Given the description of an element on the screen output the (x, y) to click on. 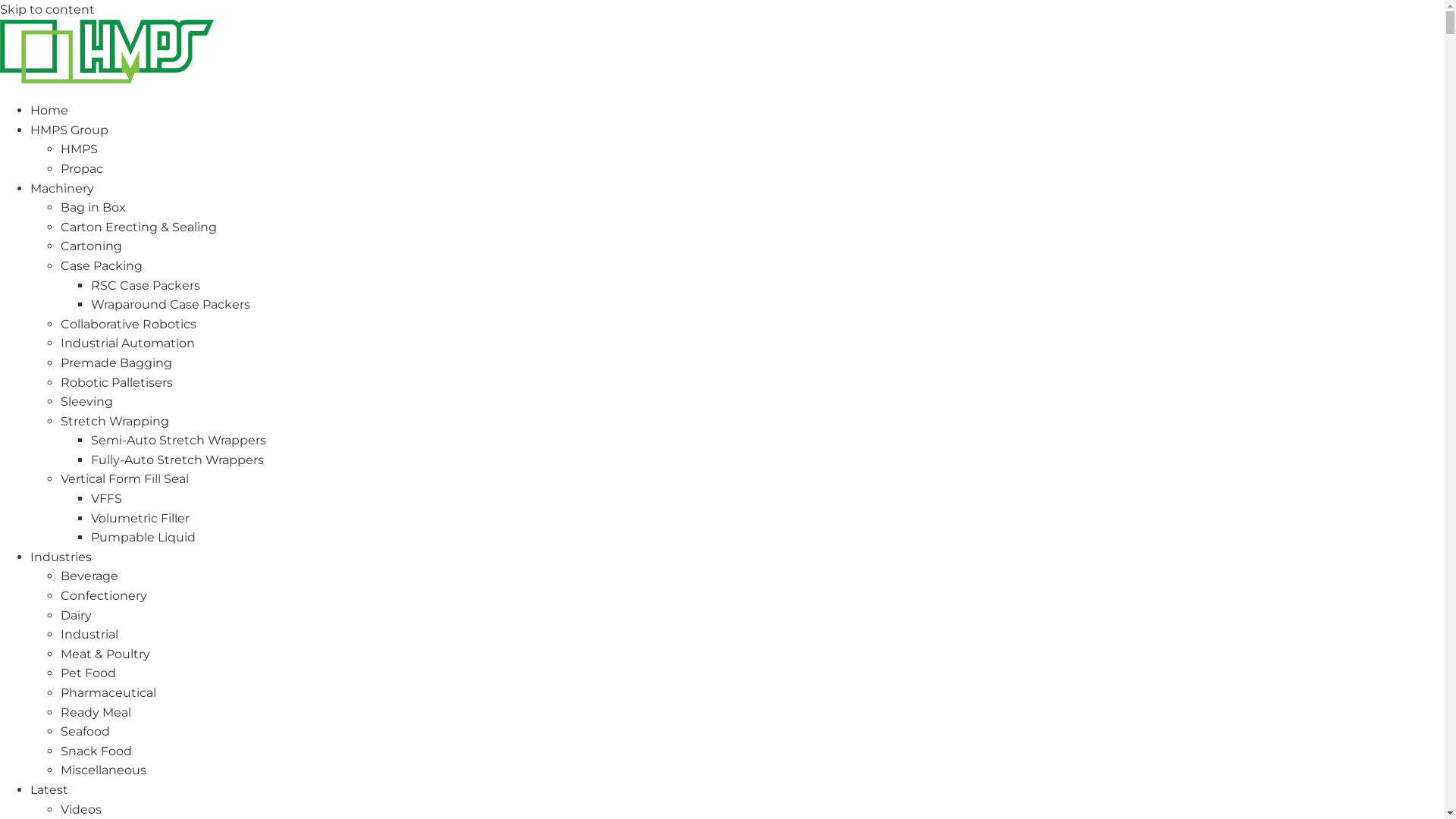
Latest Element type: text (49, 789)
Miscellaneous Element type: text (103, 769)
Industrial Element type: text (89, 634)
Cartoning Element type: text (91, 245)
Pumpable Liquid Element type: text (143, 537)
Industries Element type: text (60, 556)
HMPS Element type: text (78, 148)
Volumetric Filler Element type: text (140, 518)
Pharmaceutical Element type: text (108, 692)
Carton Erecting & Sealing Element type: text (138, 226)
Wraparound Case Packers Element type: text (170, 304)
Premade Bagging Element type: text (116, 362)
Dairy Element type: text (75, 615)
Semi-Auto Stretch Wrappers Element type: text (178, 440)
Snack Food Element type: text (95, 750)
Skip to content Element type: text (47, 9)
Bag in Box Element type: text (92, 207)
Fully-Auto Stretch Wrappers Element type: text (177, 459)
Meat & Poultry Element type: text (105, 653)
Collaborative Robotics Element type: text (128, 323)
Confectionery Element type: text (103, 595)
RSC Case Packers Element type: text (145, 285)
Propac Element type: text (81, 168)
Videos Element type: text (80, 809)
Stretch Wrapping Element type: text (114, 421)
HMPS Group Element type: text (69, 129)
Home Element type: text (49, 110)
Sleeving Element type: text (86, 401)
VFFS Element type: text (106, 498)
Seafood Element type: text (84, 731)
Ready Meal Element type: text (95, 712)
Machinery Element type: text (62, 188)
Pet Food Element type: text (88, 672)
Robotic Palletisers Element type: text (116, 381)
Industrial Automation Element type: text (127, 342)
Beverage Element type: text (89, 575)
Vertical Form Fill Seal Element type: text (124, 478)
Case Packing Element type: text (101, 265)
